Given the description of an element on the screen output the (x, y) to click on. 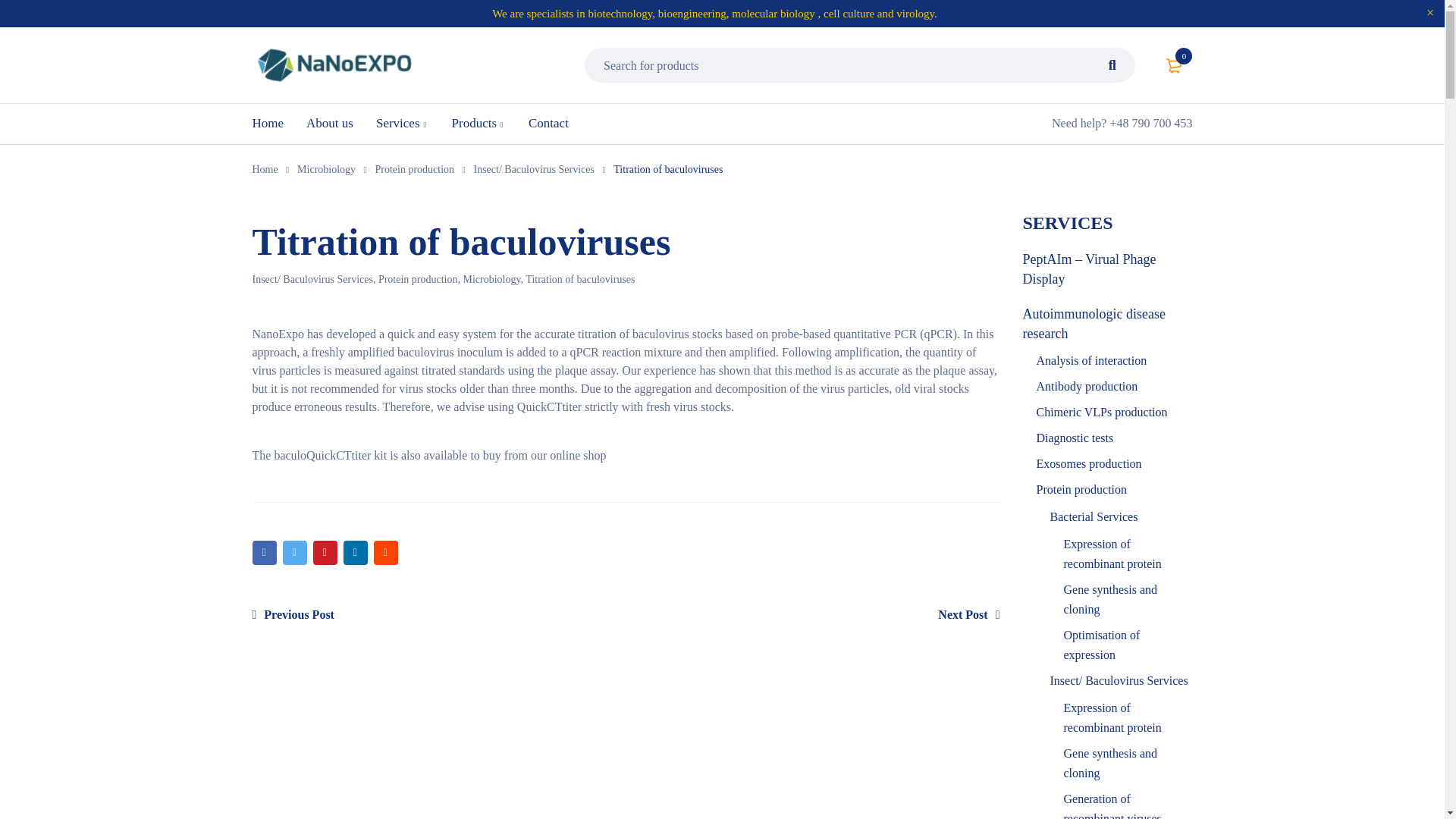
Search (1112, 64)
MyMedi (332, 65)
View your shopping cart (1174, 64)
